Given the description of an element on the screen output the (x, y) to click on. 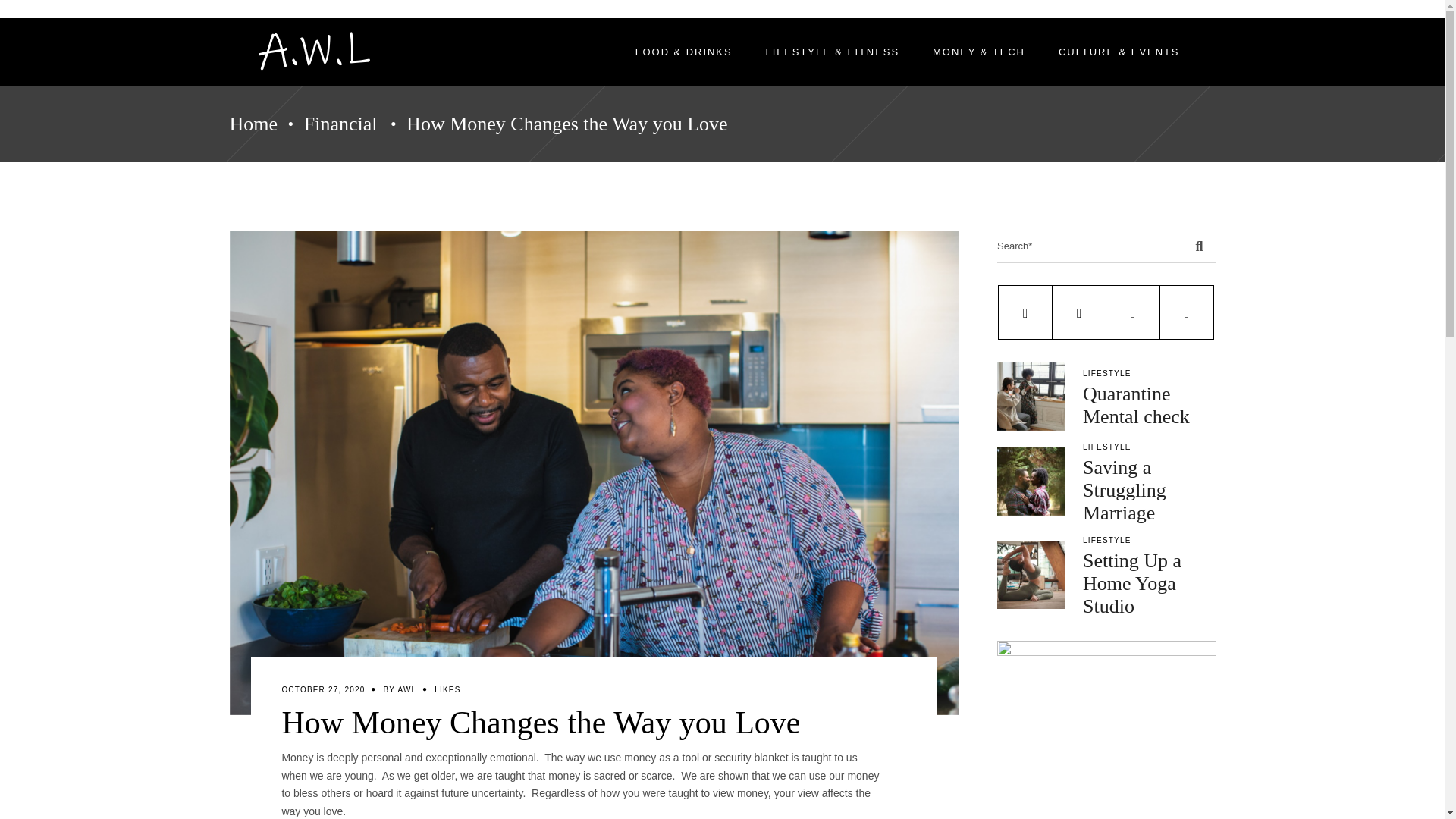
Like this (446, 689)
Saving a Struggling Marriage (1031, 481)
Setting Up a Home Yoga Studio (1031, 574)
Setting Up a Home Yoga Studio (1131, 583)
LIKES (446, 689)
Quarantine Mental check (1136, 405)
Quarantine Mental check (1031, 396)
Saving a Struggling Marriage (1124, 490)
Financial (340, 124)
OCTOBER 27, 2020 (323, 689)
Search for: (1090, 246)
Home (253, 124)
AWL (406, 689)
